Given the description of an element on the screen output the (x, y) to click on. 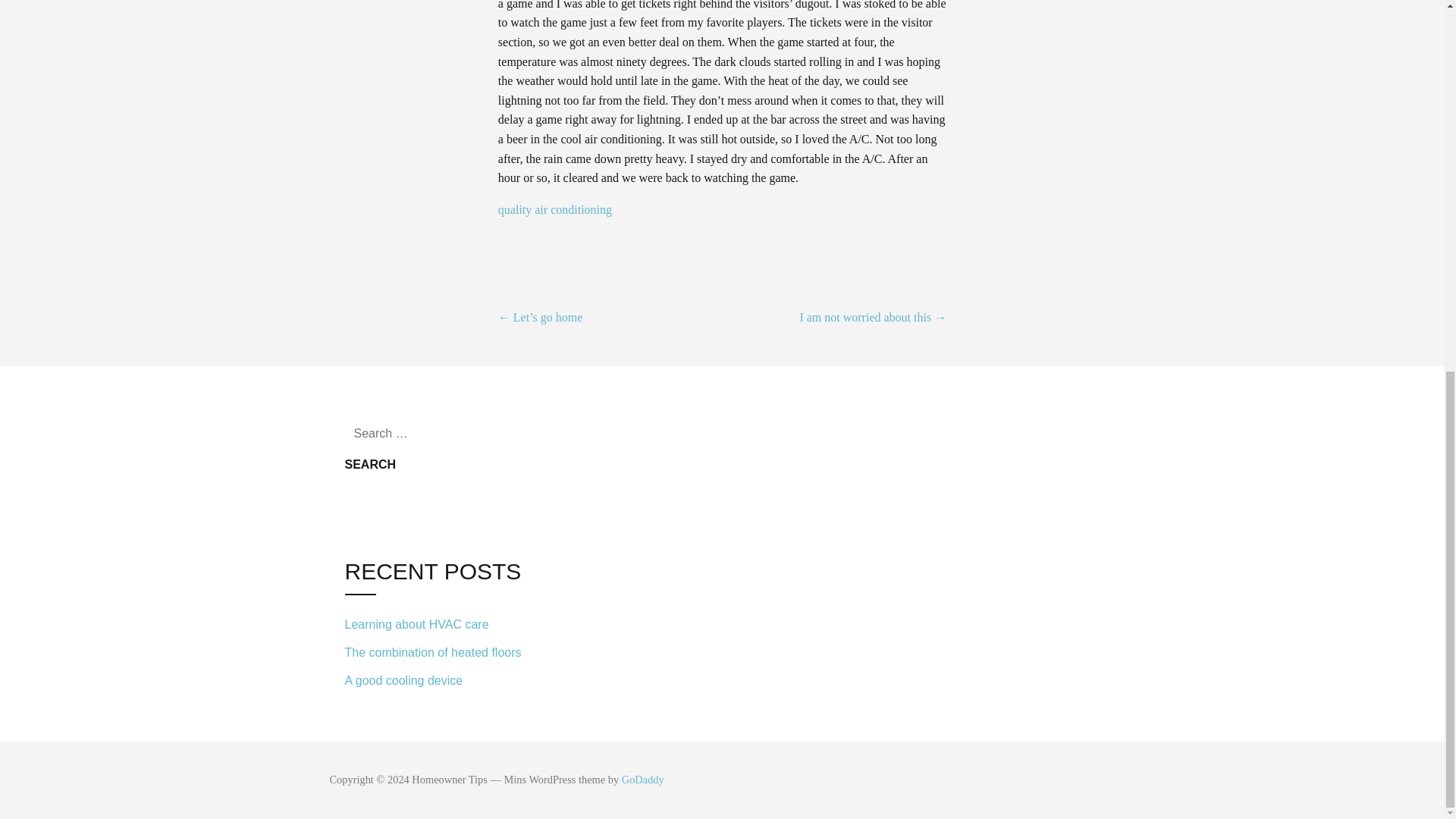
GoDaddy (642, 779)
quality air conditioning  (555, 209)
Search (369, 464)
Learning about HVAC care (447, 624)
Search (369, 464)
A good cooling device (447, 678)
Search (369, 464)
The combination of heated floors (447, 652)
